Given the description of an element on the screen output the (x, y) to click on. 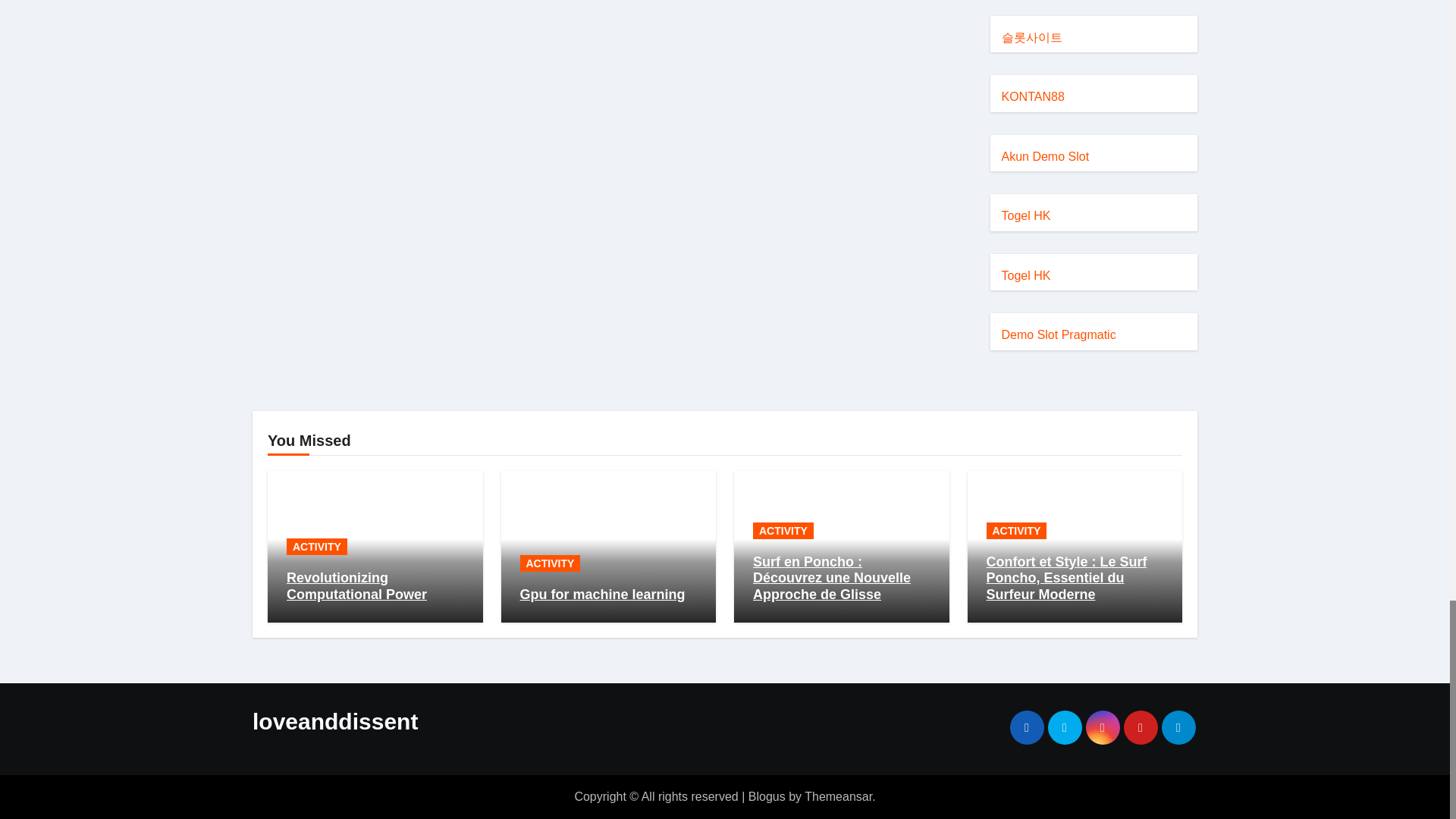
Permalink to: Revolutionizing Computational Power (356, 585)
Permalink to: Gpu for machine learning (602, 594)
